Given the description of an element on the screen output the (x, y) to click on. 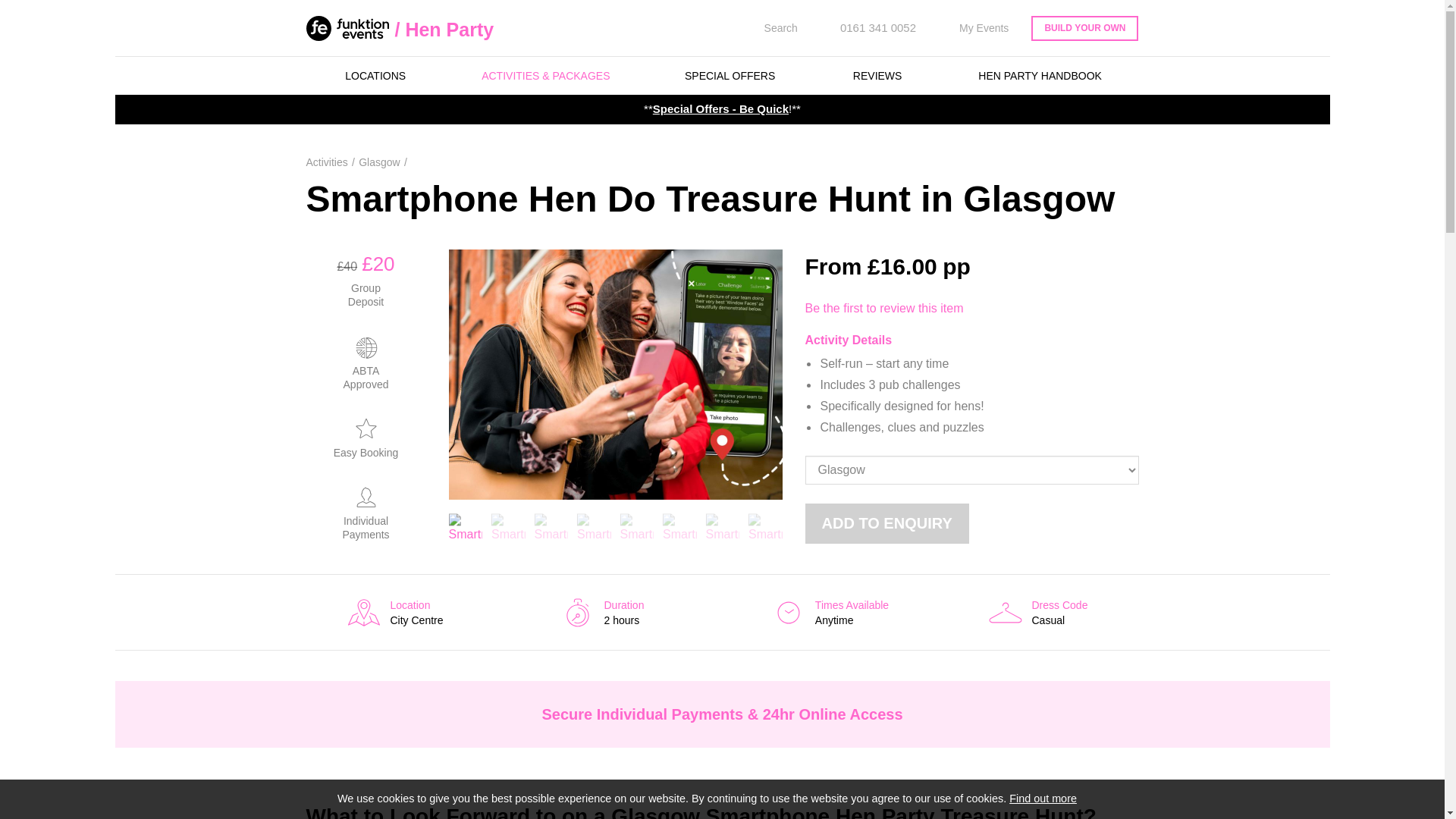
Smartphone Hen Party Treasure Hunt Events (679, 525)
Smartphone Hen Party Treasure Hunt Challenge (593, 525)
SPECIAL OFFERS (729, 75)
Search (770, 28)
My Events (974, 28)
Find event you are looking for (770, 28)
Add to enquiry (887, 523)
LOCATIONS (375, 75)
HEN PARTY HANDBOOK (1040, 75)
Smartphone Hen Party Treasure Hunt Event (637, 525)
